Given the description of an element on the screen output the (x, y) to click on. 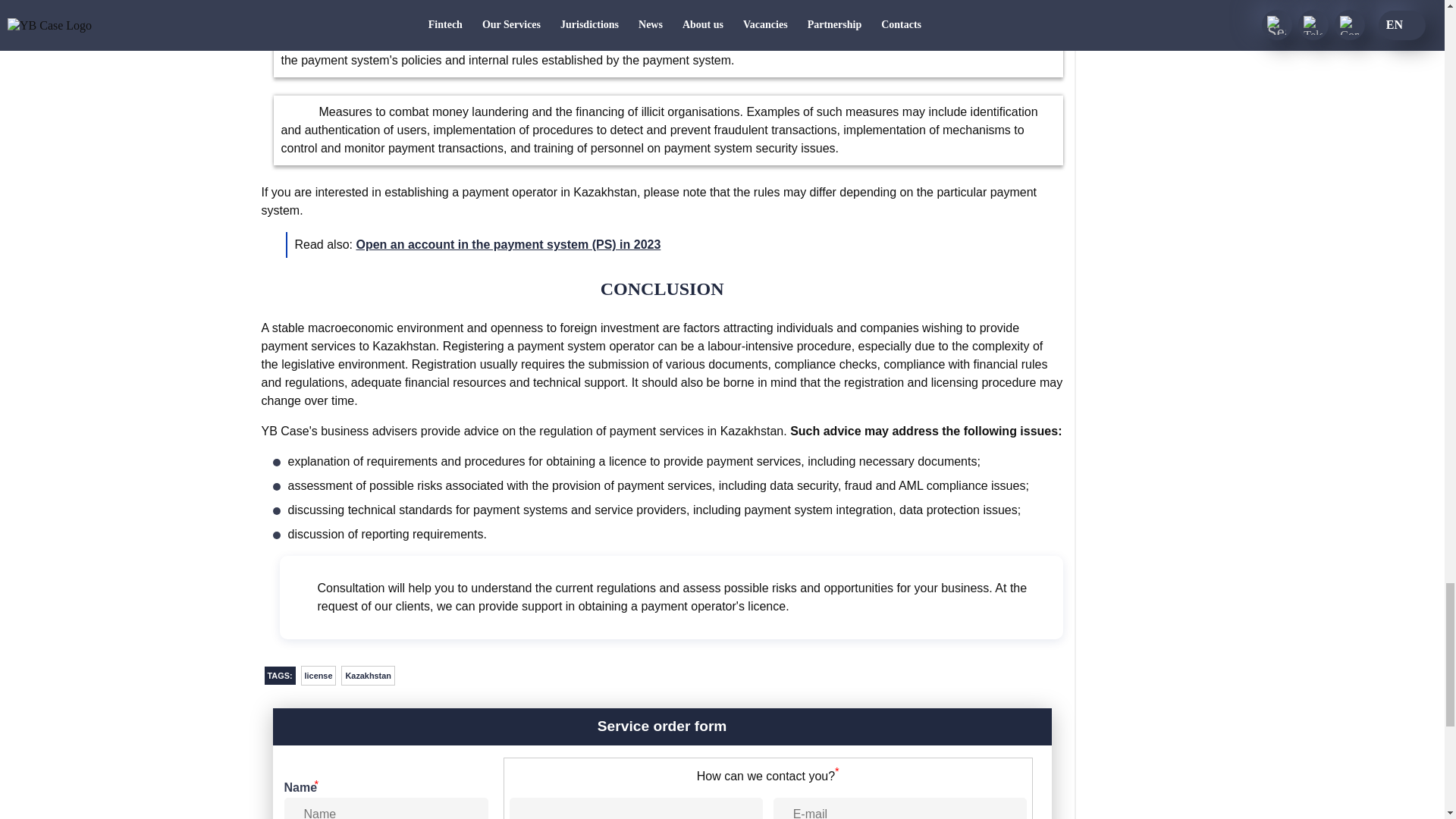
Kazakhstan (367, 675)
license (318, 675)
